Given the description of an element on the screen output the (x, y) to click on. 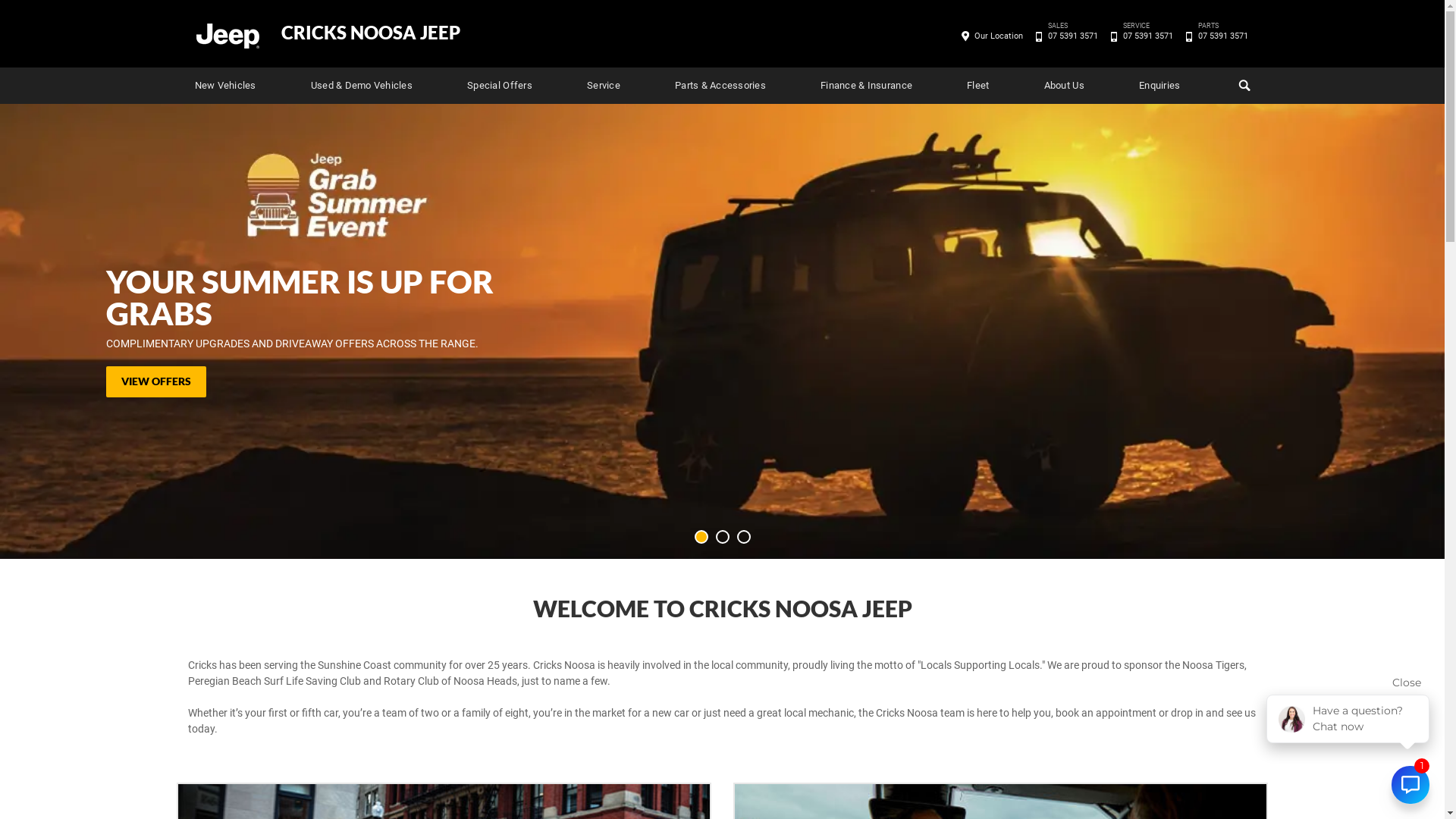
SERVICE
07 5391 3571 Element type: text (1147, 35)
Cricks Noosa Jeep Element type: hover (226, 34)
Fleet Element type: text (977, 85)
Service Element type: text (603, 85)
VIEW OFFERS Element type: text (156, 381)
Finance & Insurance Element type: text (866, 85)
PARTS
07 5391 3571 Element type: text (1222, 35)
SALES
07 5391 3571 Element type: text (1071, 35)
Used & Demo Vehicles Element type: text (361, 85)
Our Location Element type: text (998, 35)
Search Element type: text (1241, 85)
New Vehicles Element type: text (224, 85)
Parts & Accessories Element type: text (719, 85)
Special Offers Element type: text (499, 85)
About Us Element type: text (1064, 85)
CRICKS NOOSA JEEP Element type: text (369, 32)
Enquiries Element type: text (1159, 85)
